Given the description of an element on the screen output the (x, y) to click on. 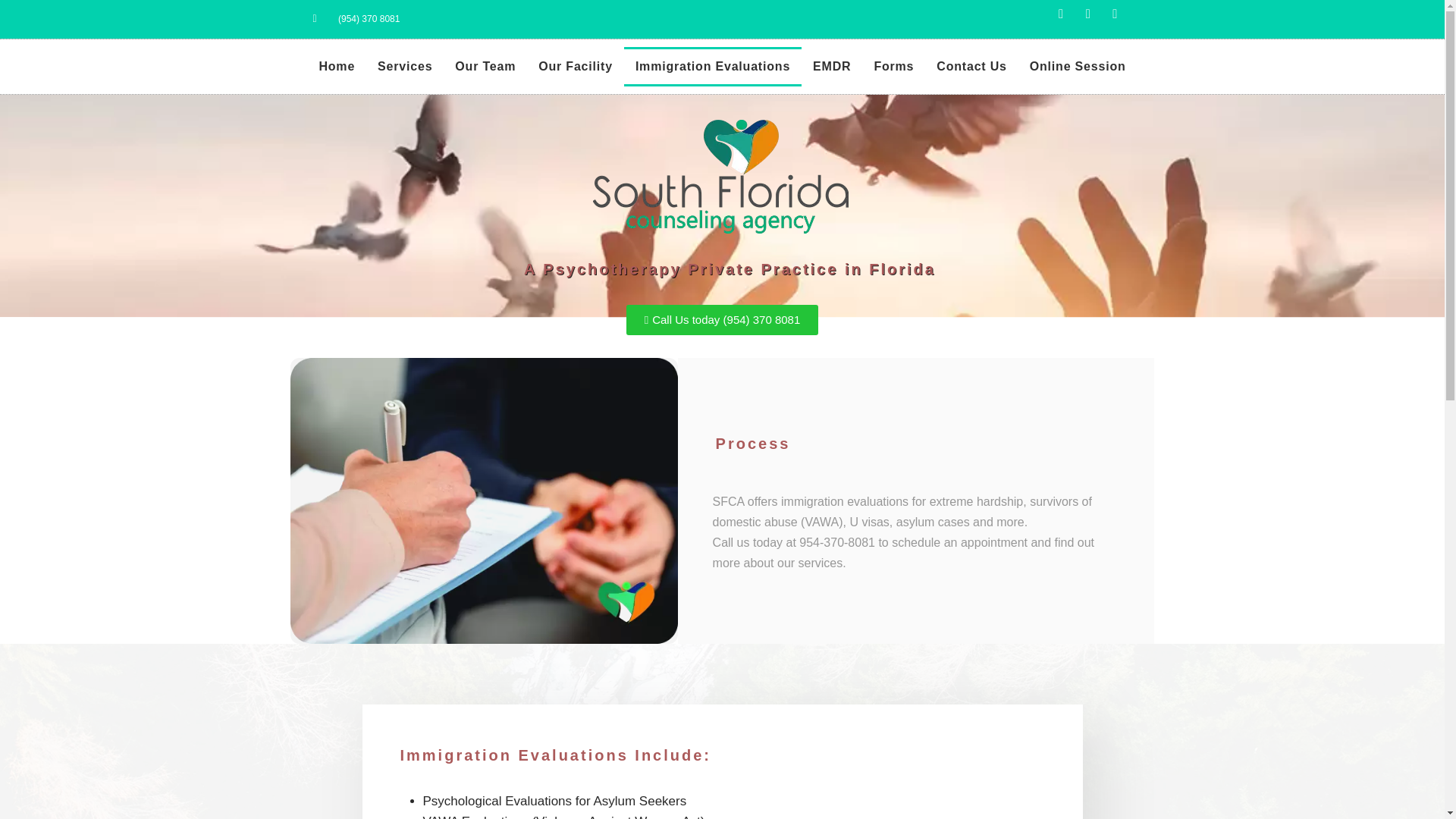
Our Team (485, 66)
Home (336, 66)
EMDR (831, 66)
Immigration Evaluations (713, 66)
Services (405, 66)
Forms (892, 66)
Online Session (1077, 66)
Contact Us (970, 66)
Our Facility (575, 66)
